Given the description of an element on the screen output the (x, y) to click on. 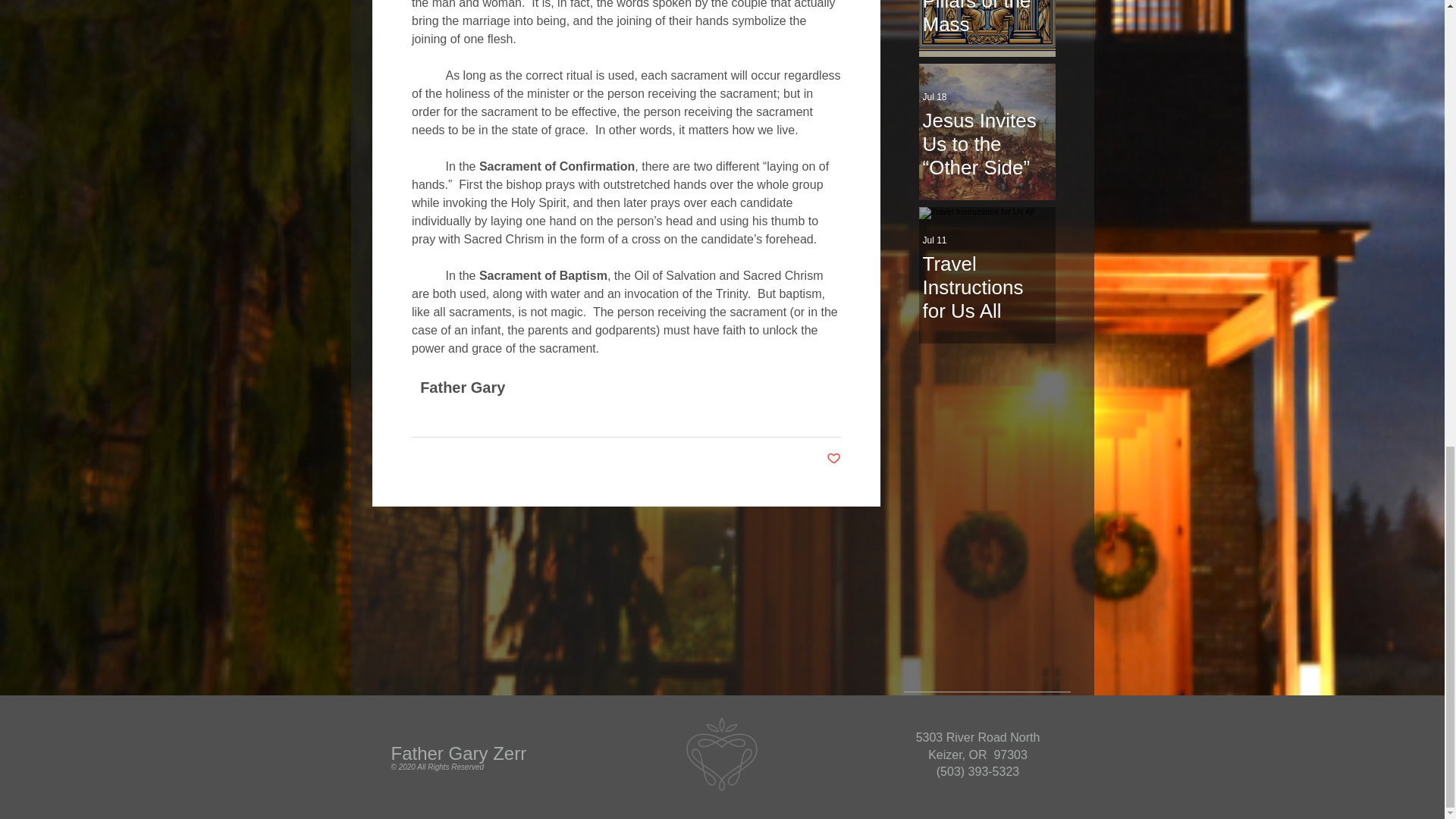
Travel Instructions for Us All (986, 280)
The Twin Pillars of the Mass (986, 18)
Jul 18 (933, 96)
Jul 11 (933, 240)
Post not marked as liked (834, 458)
